Given the description of an element on the screen output the (x, y) to click on. 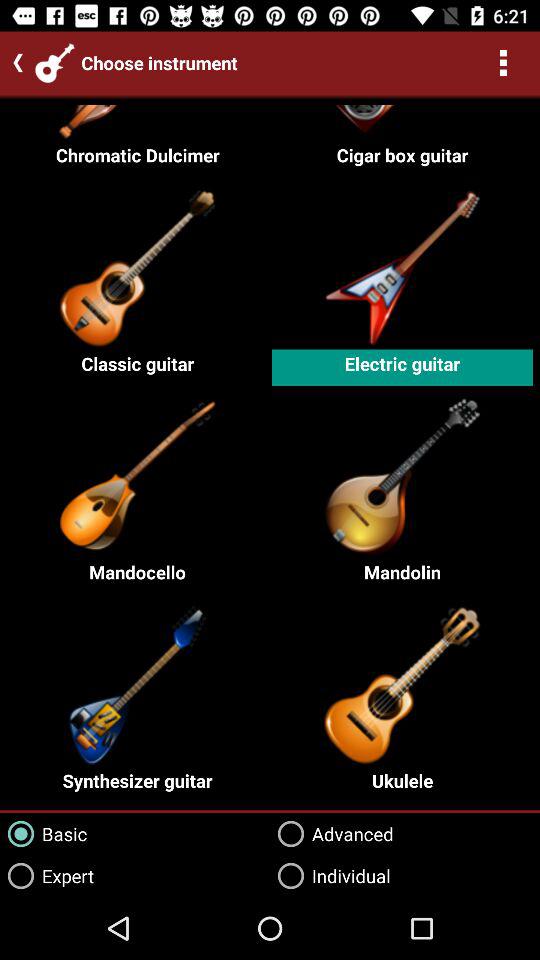
turn on expert item (47, 875)
